Given the description of an element on the screen output the (x, y) to click on. 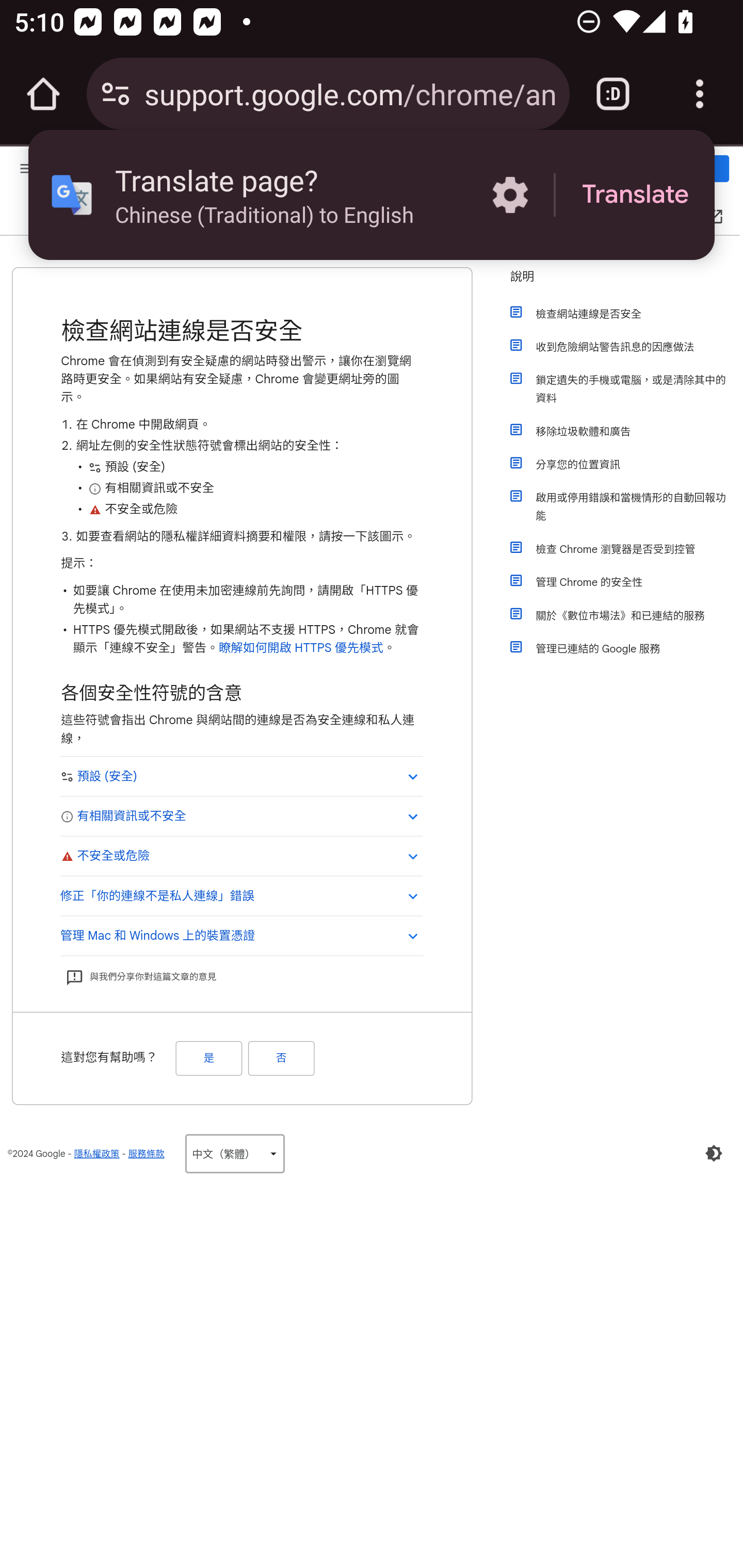
Open the home page (43, 93)
Connection is secure (115, 93)
Switch or close tabs (612, 93)
Customize and control Google Chrome (699, 93)
Translate (634, 195)
More options in the Translate page? (509, 195)
檢查網站連線是否安全 (626, 313)
收到危險網站警告訊息的因應做法 (626, 347)
鎖定遺失的手機或電腦，或是清除其中的資料 (626, 389)
移除垃圾軟體和廣告 (626, 430)
分享您的位置資訊 (626, 464)
啟用或停用錯誤和當機情形的自動回報功能 (626, 507)
檢查 Chrome 瀏覽器是否受到控管 (626, 548)
管理 Chrome 的安全性 (626, 583)
關於《數位市場法》和已連結的服務 (626, 615)
管理已連結的 Google 服務 (626, 648)
瞭解如何開啟 HTTPS 優先模式 (300, 647)
Default (Secure) 預設 (安全) (240, 775)
查看網站資訊 有相關資訊或不安全 (240, 814)
不安全 不安全或危險 (240, 855)
修正「你的連線不是私人連線」錯誤 (240, 894)
管理 Mac 和 Windows 上的裝置憑證 (240, 935)
與我們分享你對這篇文章的意見 (140, 975)
是 (這對您有幫助嗎？) (208, 1057)
否 (這對您有幫助嗎？) (280, 1057)
選取語言 (中文（繁體）‎) (234, 1152)
啟用深色模式 (713, 1153)
隱私權政策 (96, 1152)
服務條款 (145, 1152)
